Given the description of an element on the screen output the (x, y) to click on. 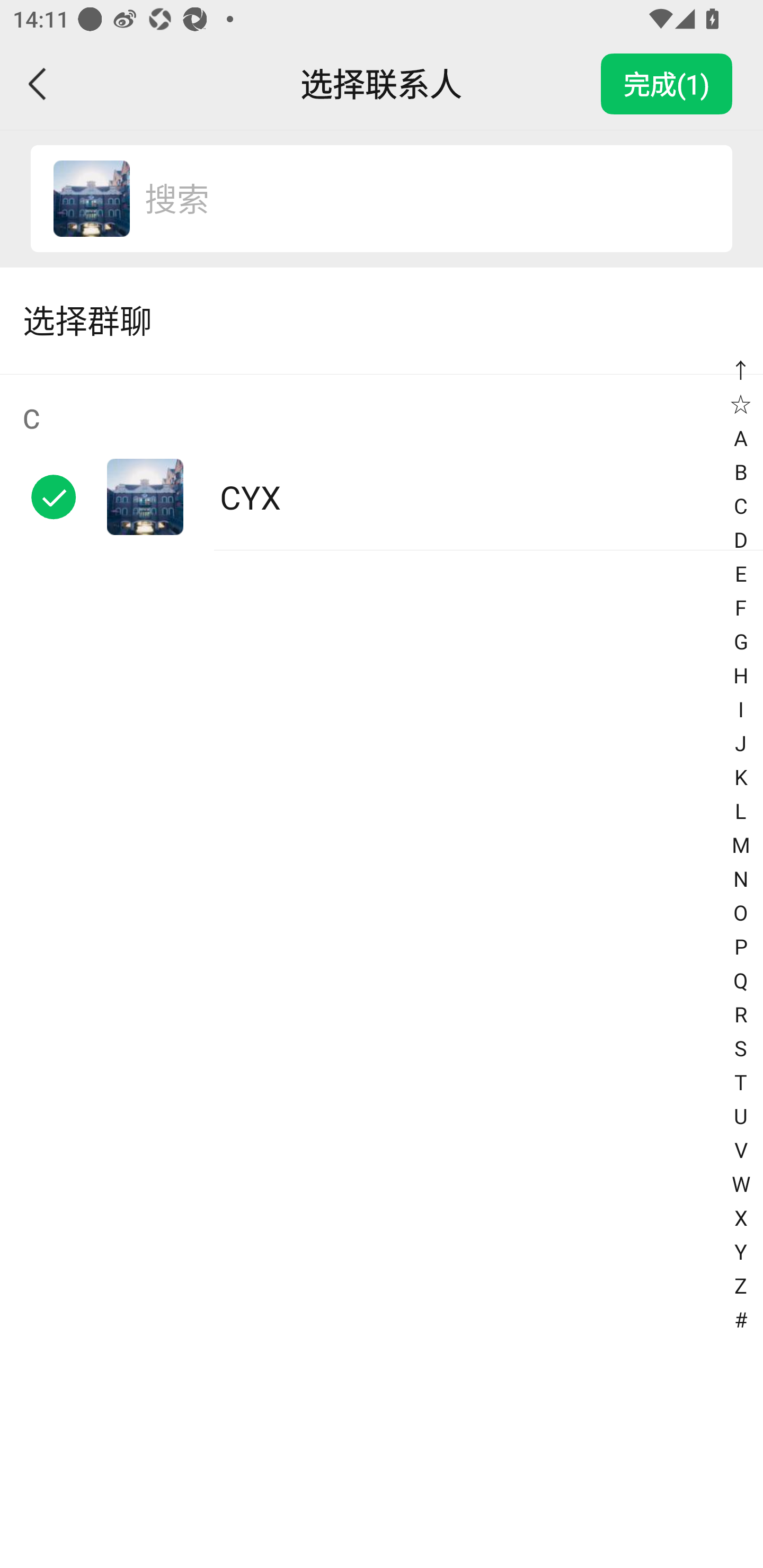
返回 (38, 83)
完成(1) (666, 83)
CYX (91, 198)
搜索 (418, 198)
选择群聊 (381, 320)
C CYX (381, 462)
